Given the description of an element on the screen output the (x, y) to click on. 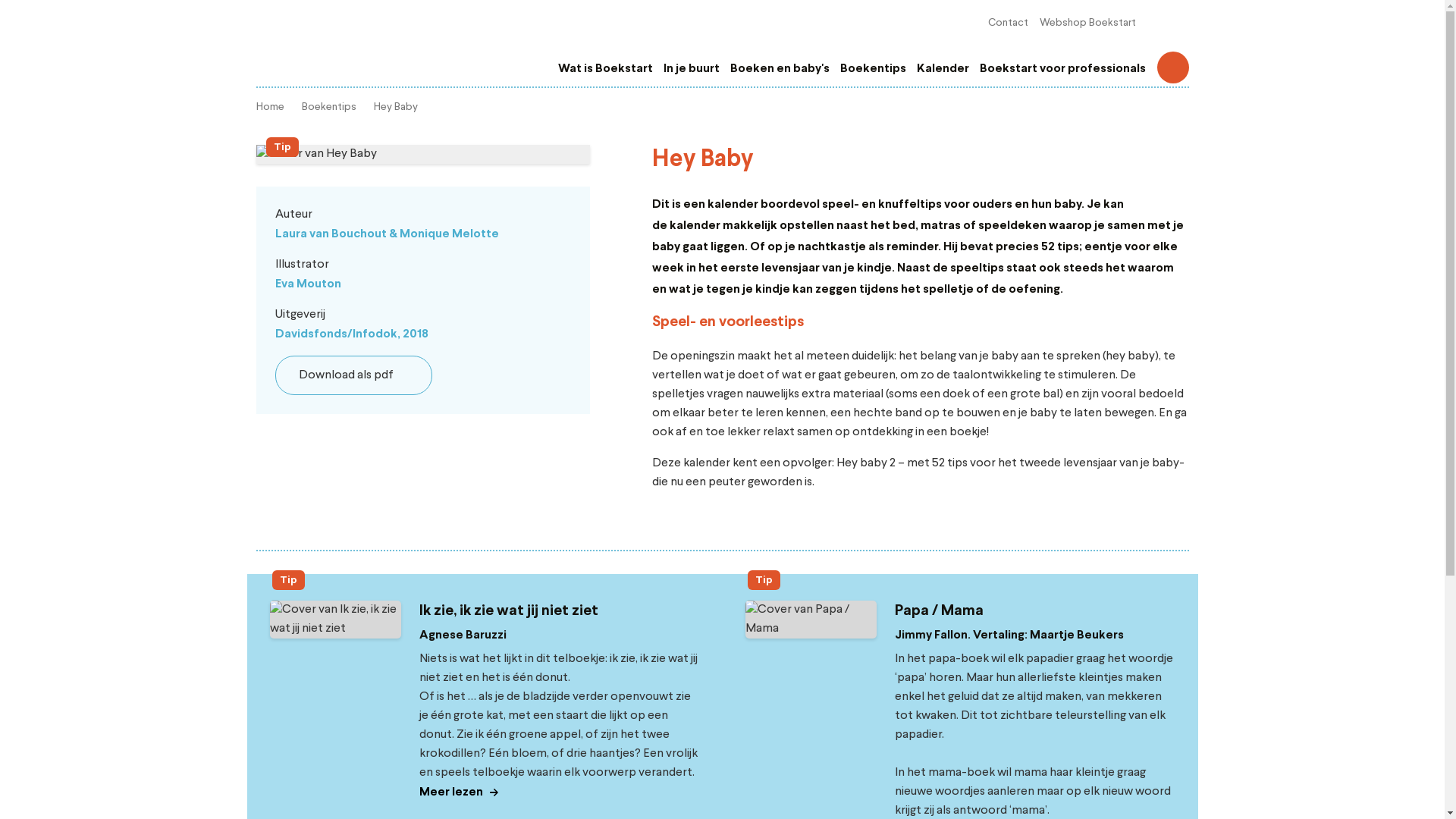
Facebook Element type: text (272, 439)
E-mail Element type: text (327, 439)
Ik zie, ik zie wat jij niet ziet Element type: text (507, 610)
Boekentips Element type: text (328, 106)
Overslaan en naar de inhoud gaan Element type: text (0, 0)
Meer lezen Element type: text (457, 791)
Facebook Element type: text (1154, 22)
Wat is Boekstart Element type: text (605, 68)
Kalender Element type: text (942, 68)
Download als pdf Element type: text (352, 375)
Boekentips Element type: text (873, 68)
Webshop Boekstart Element type: text (1086, 22)
Zoeken Element type: text (1173, 67)
Twitter Element type: text (299, 439)
Boekstart voor professionals Element type: text (1062, 68)
Papa / Mama Element type: text (938, 610)
Home Element type: text (270, 106)
Boekstart Element type: text (339, 37)
Instagram Element type: text (1177, 22)
Contact Element type: text (1007, 22)
Boeken en baby's Element type: text (778, 68)
In je buurt Element type: text (690, 68)
